Given the description of an element on the screen output the (x, y) to click on. 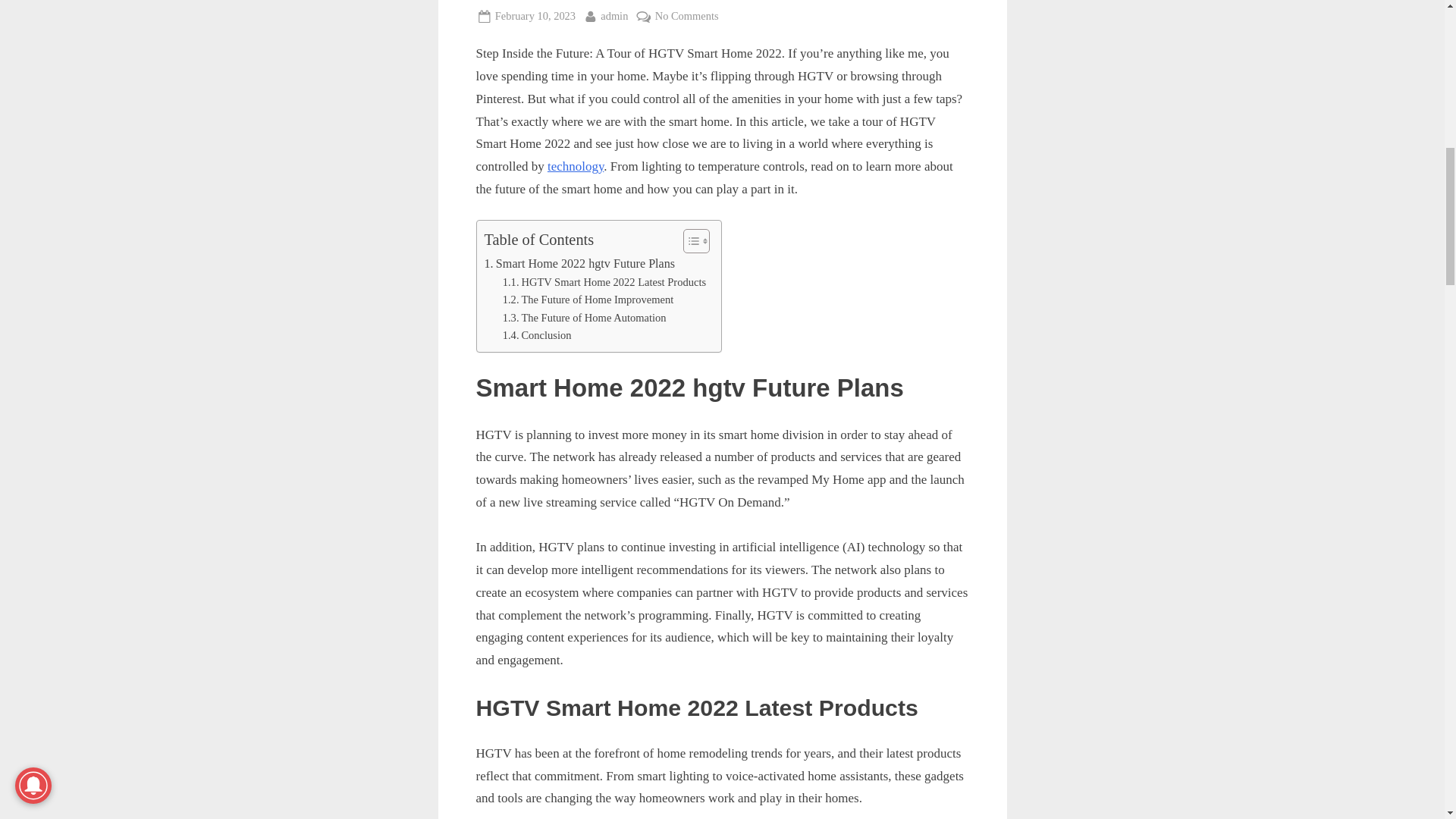
HGTV Smart Home 2022 Latest Products (604, 282)
The Future of Home Automation (584, 317)
technology (613, 15)
Conclusion (575, 165)
Smart Home 2022 hgtv Future Plans (537, 334)
The Future of Home Improvement (579, 263)
Smart Home 2022 hgtv Future Plans (587, 299)
HGTV Smart Home 2022 Latest Products (579, 263)
The Future of Home Automation (535, 15)
Conclusion (604, 282)
The Future of Home Improvement (584, 317)
